Given the description of an element on the screen output the (x, y) to click on. 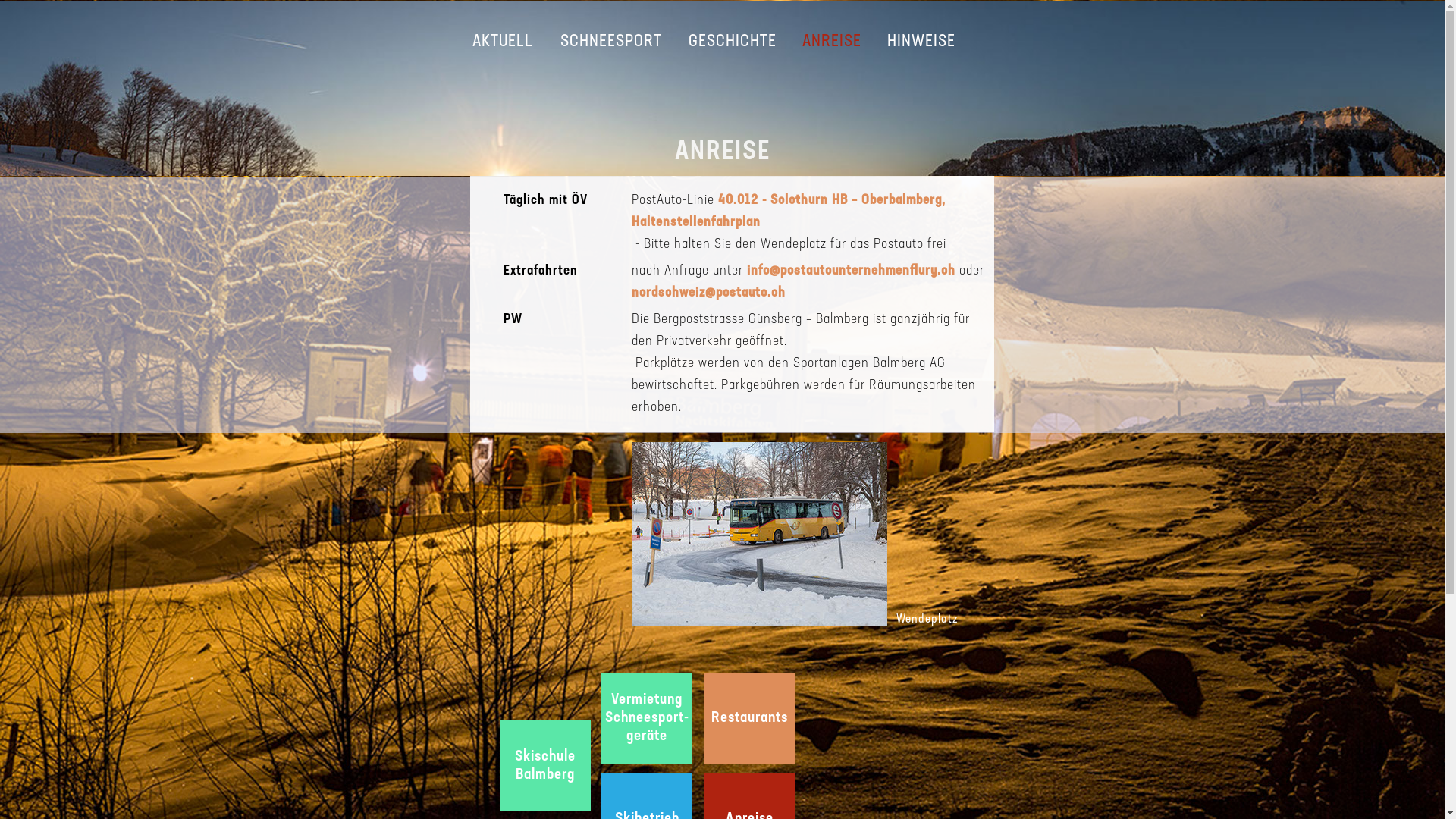
nordschweiz@postauto.ch Element type: text (708, 292)
info@postautounternehmenflury.ch Element type: text (850, 270)
Linie PostAuto 40.012 Element type: hover (716, 200)
Restaurants Element type: text (748, 717)
HINWEISE Element type: text (921, 42)
SCHNEESPORT Element type: text (610, 42)
ANREISE Element type: text (831, 42)
GESCHICHTE Element type: text (732, 42)
AKTUELL Element type: text (503, 42)
Skischule
Balmberg Element type: text (544, 765)
